Given the description of an element on the screen output the (x, y) to click on. 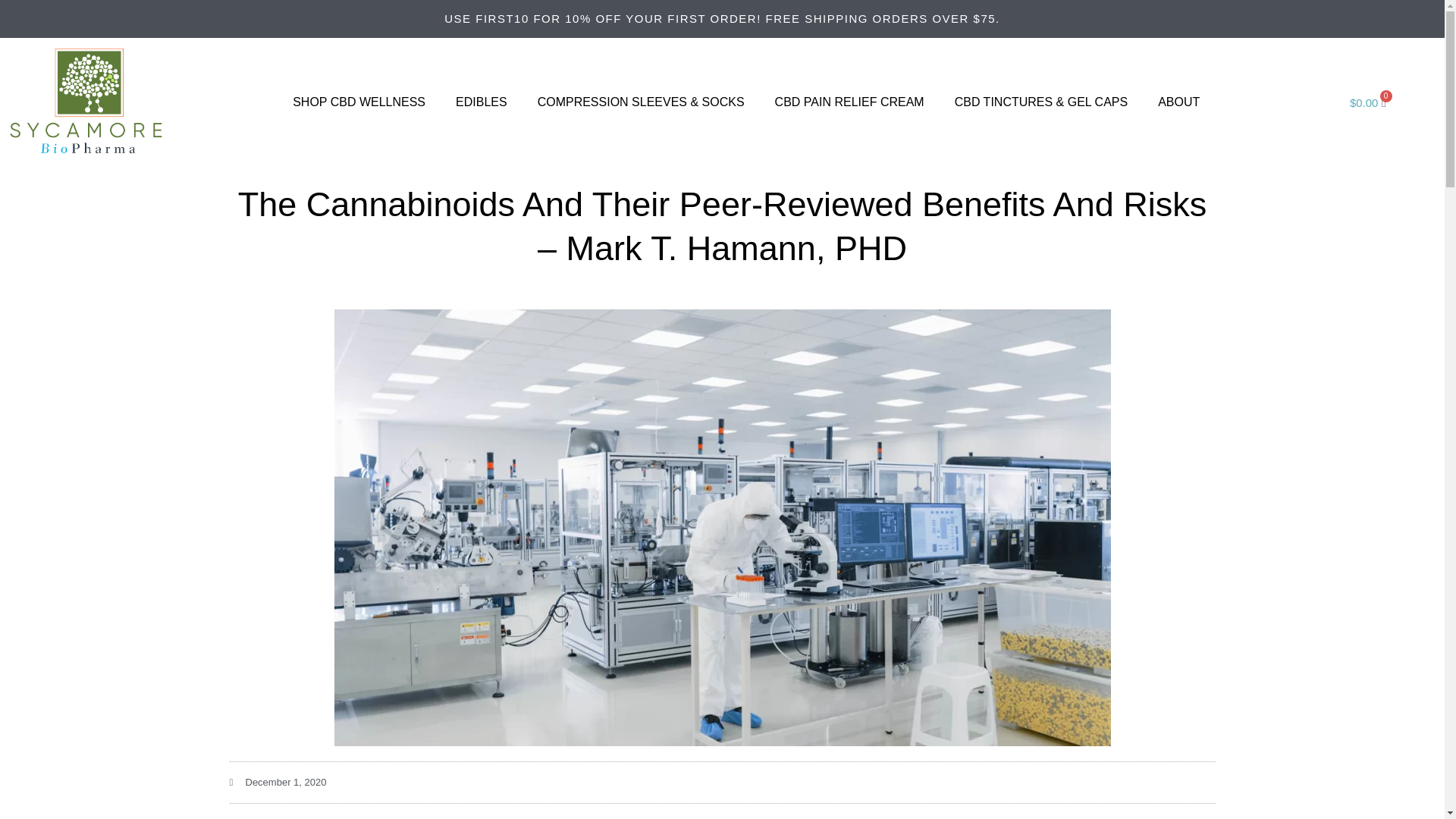
CBD Pain Relief Cream (849, 102)
SHOP CBD WELLNESS (359, 102)
EDIBLES (481, 102)
CBD Oil Tinctures (1040, 102)
CBD Products For Sale Online (359, 102)
December 1, 2020 (277, 782)
CBD PAIN RELIEF CREAM (849, 102)
ABOUT (1178, 102)
